Given the description of an element on the screen output the (x, y) to click on. 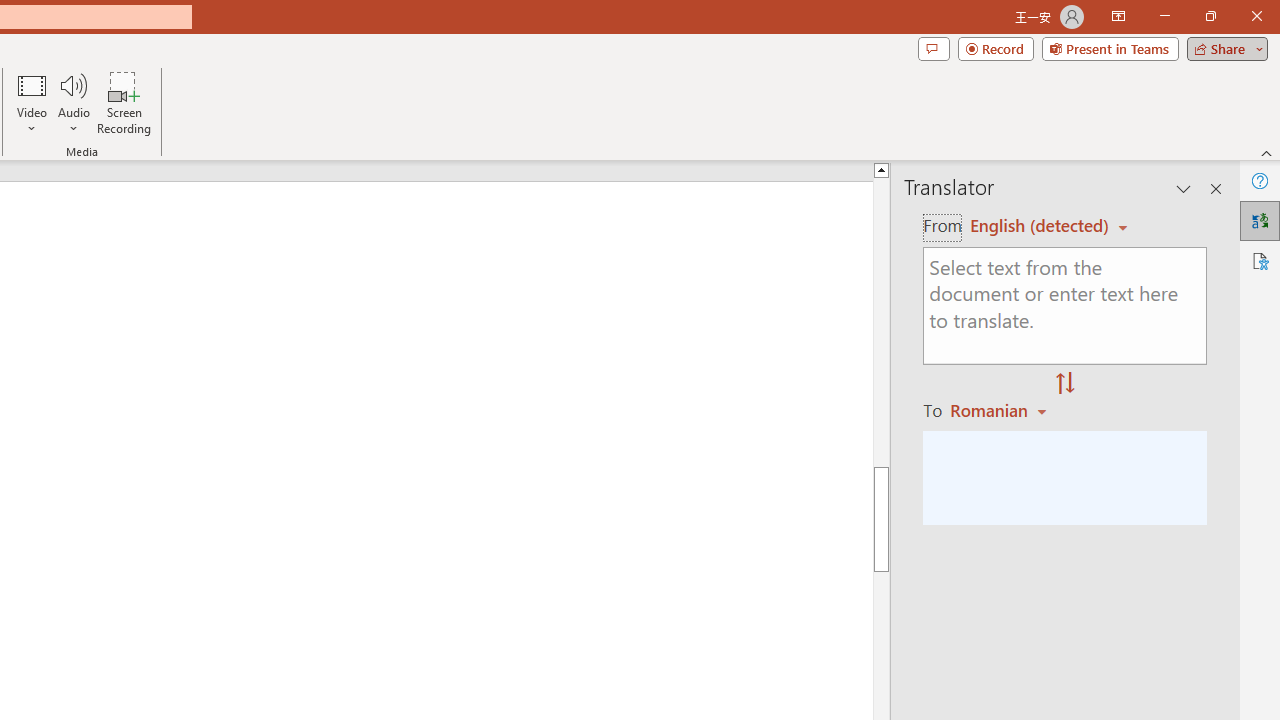
Video (31, 102)
Audio (73, 102)
Czech (detected) (1039, 225)
